Given the description of an element on the screen output the (x, y) to click on. 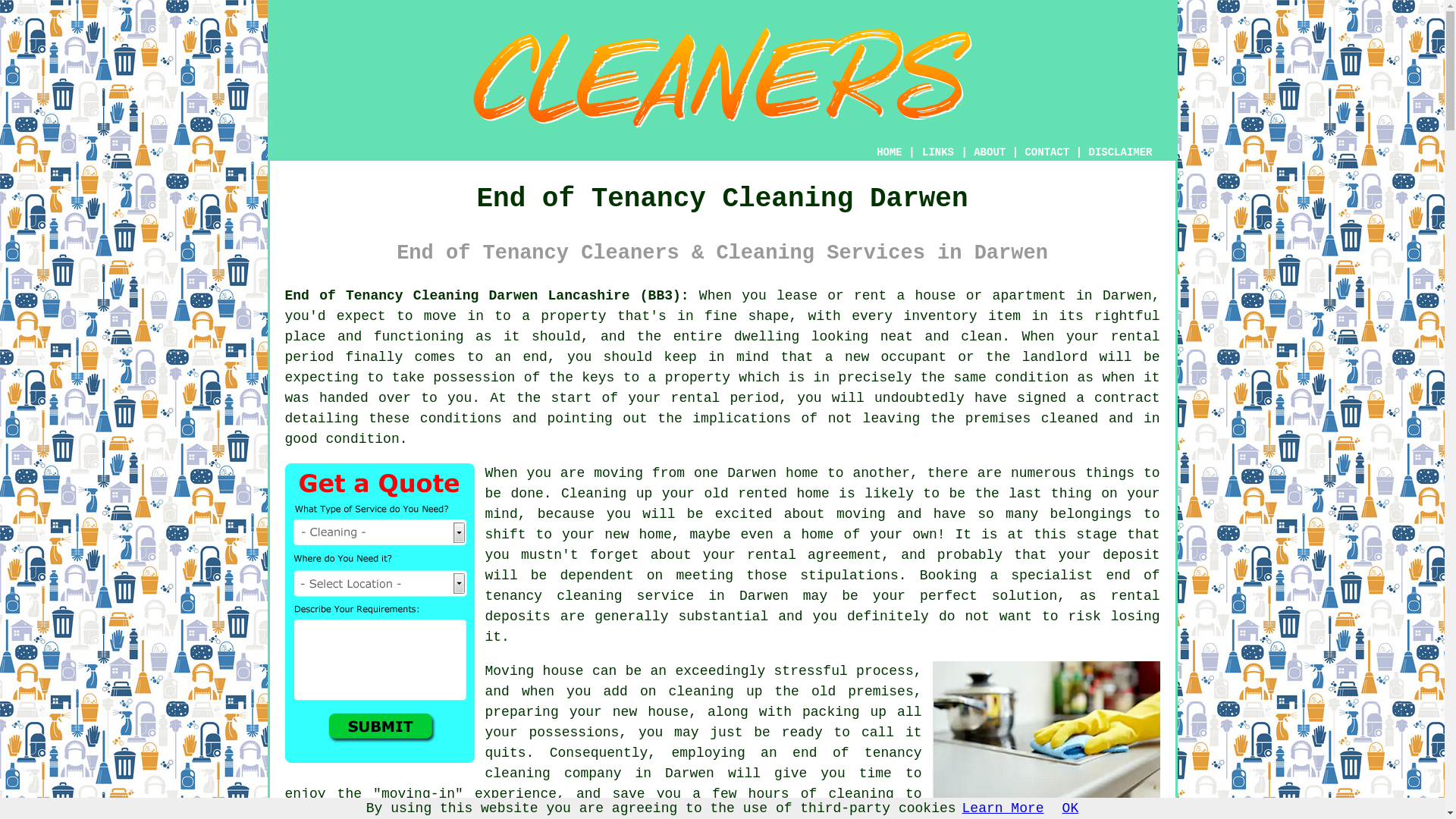
end of tenancy cleaning service (822, 585)
End of Tenancy Cleaning Darwen (722, 77)
LINKS (938, 151)
HOME (889, 152)
end of tenancy cleaning (702, 763)
